Given the description of an element on the screen output the (x, y) to click on. 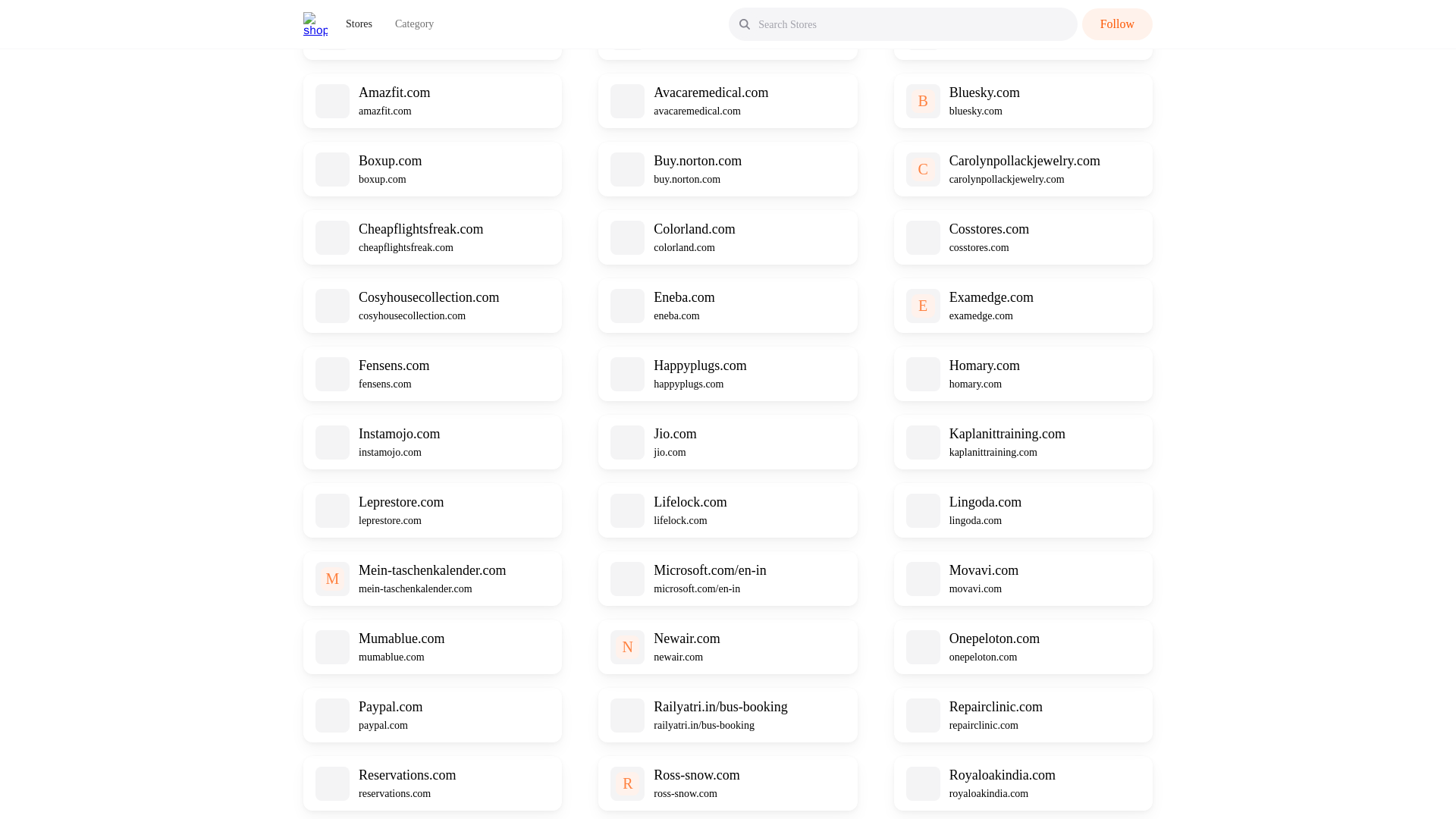
Carolynpollackjewelry.com (1024, 160)
Aeroflowbreastpumps.com (727, 23)
Bluesky.com (984, 92)
Examedge.com (991, 296)
Fensens.com (393, 365)
Instamojo.com (398, 433)
Homary.com (984, 365)
Leprestore.com (401, 501)
Kaplanittraining.com (1007, 433)
Jio.com (675, 433)
Cosyhousecollection.com (428, 296)
Cheapflightsfreak.com (420, 228)
Amazfit.com (393, 92)
Avacaremedical.com (710, 92)
Movavi.com (984, 570)
